Given the description of an element on the screen output the (x, y) to click on. 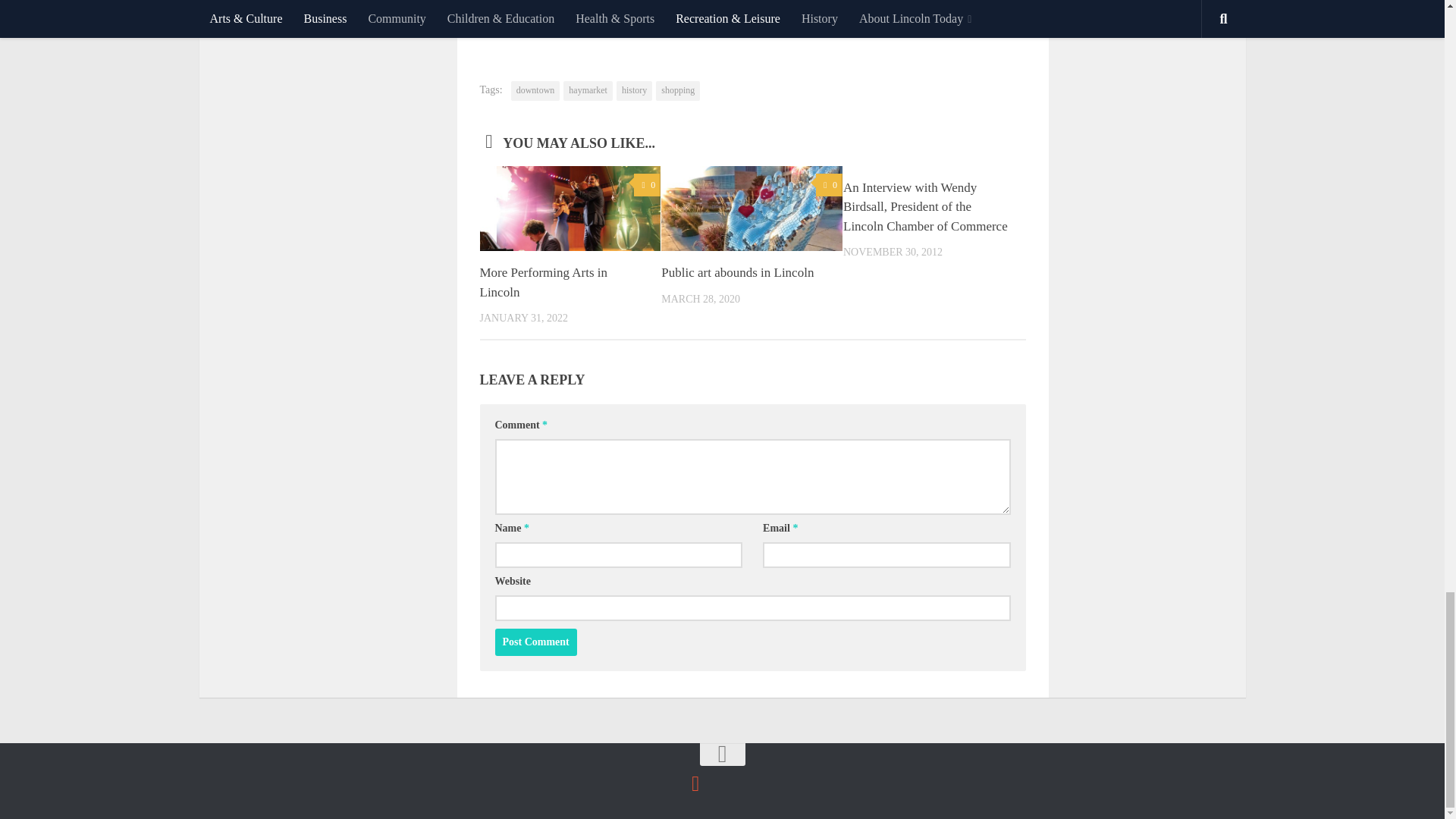
Post Comment (535, 642)
haymarket (587, 90)
downtown (535, 90)
More Performing Arts in Lincoln (543, 282)
history (633, 90)
shopping (678, 90)
0 (647, 185)
